Given the description of an element on the screen output the (x, y) to click on. 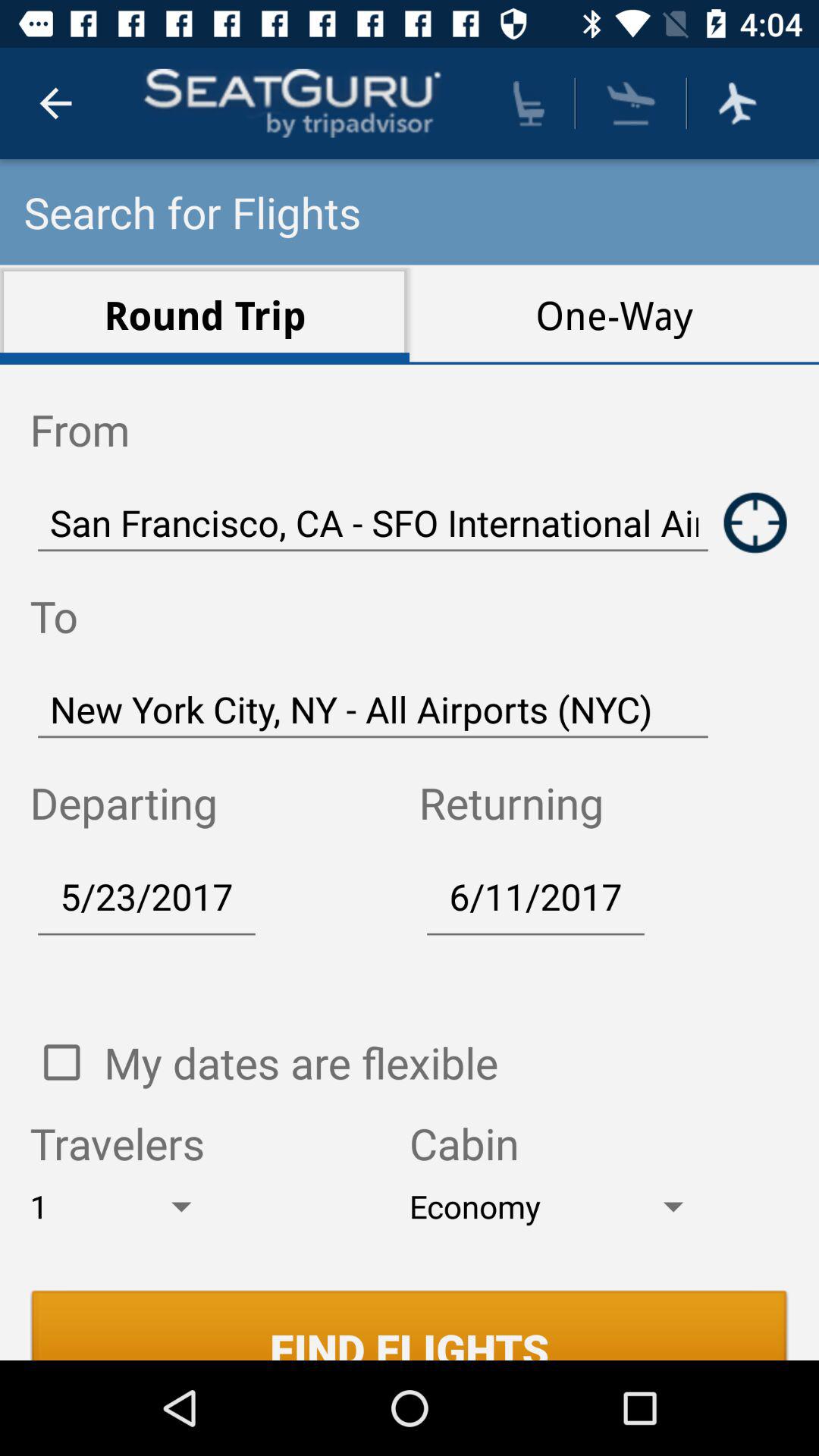
toggle flight mode (737, 103)
